Given the description of an element on the screen output the (x, y) to click on. 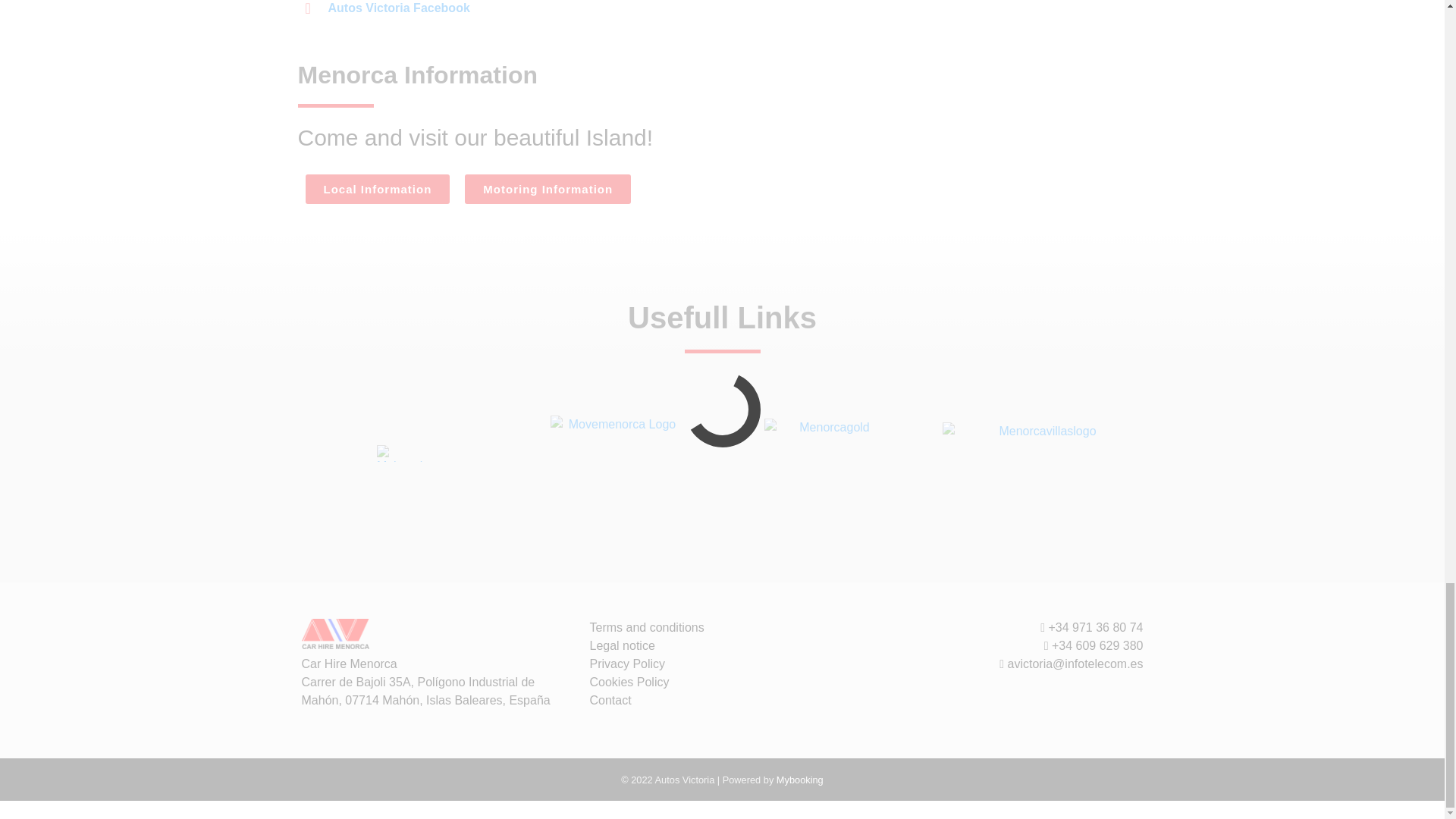
Autos Victoria Facebook (386, 8)
Privacy Policy (627, 663)
Mybooking (800, 779)
Local Information (376, 188)
Contact (610, 699)
Cookies Policy (629, 681)
Motoring Information (547, 188)
Legal notice (622, 645)
Terms and conditions (646, 626)
